Given the description of an element on the screen output the (x, y) to click on. 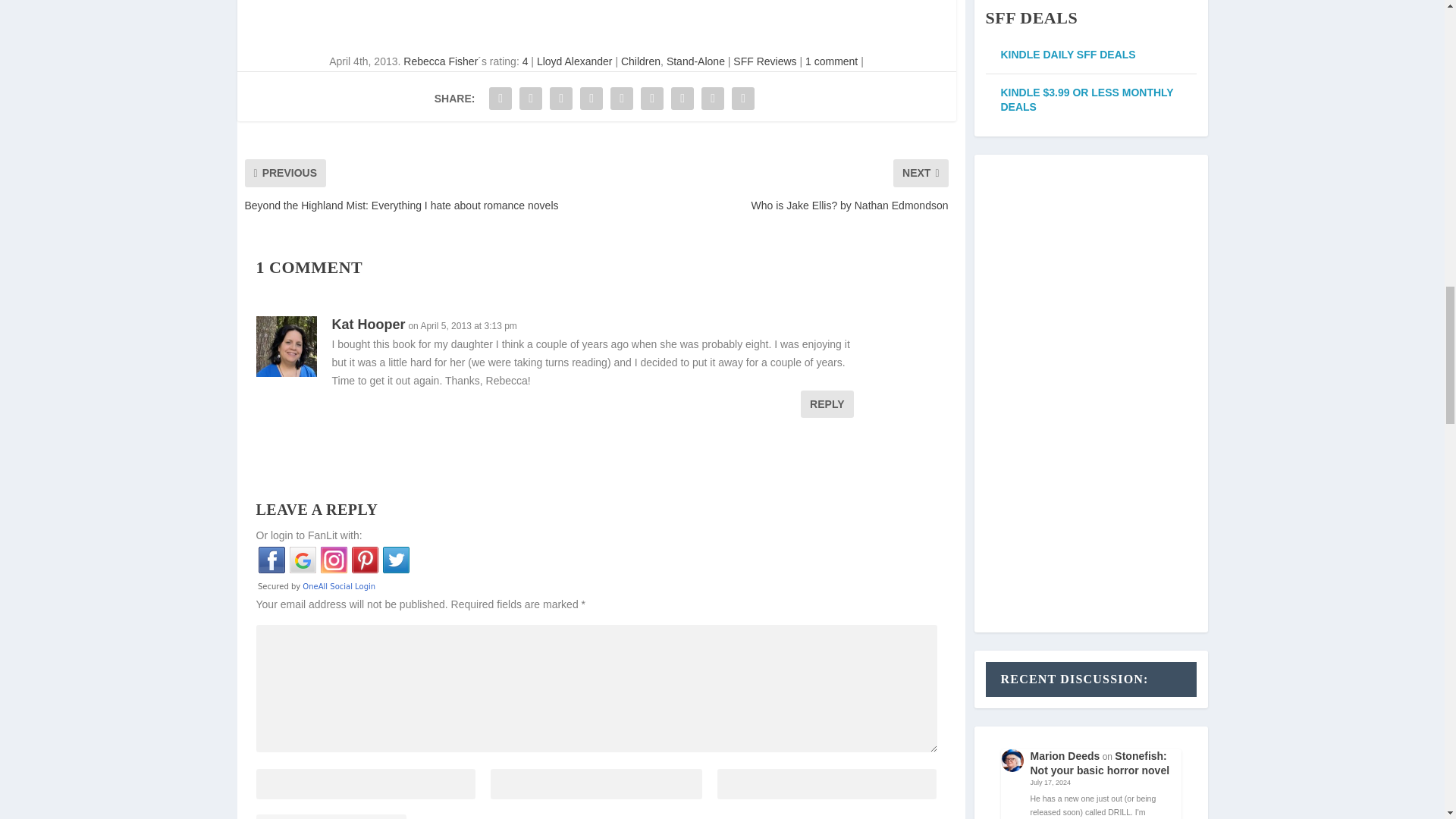
Posts by Rebecca Fisher (440, 61)
